Given the description of an element on the screen output the (x, y) to click on. 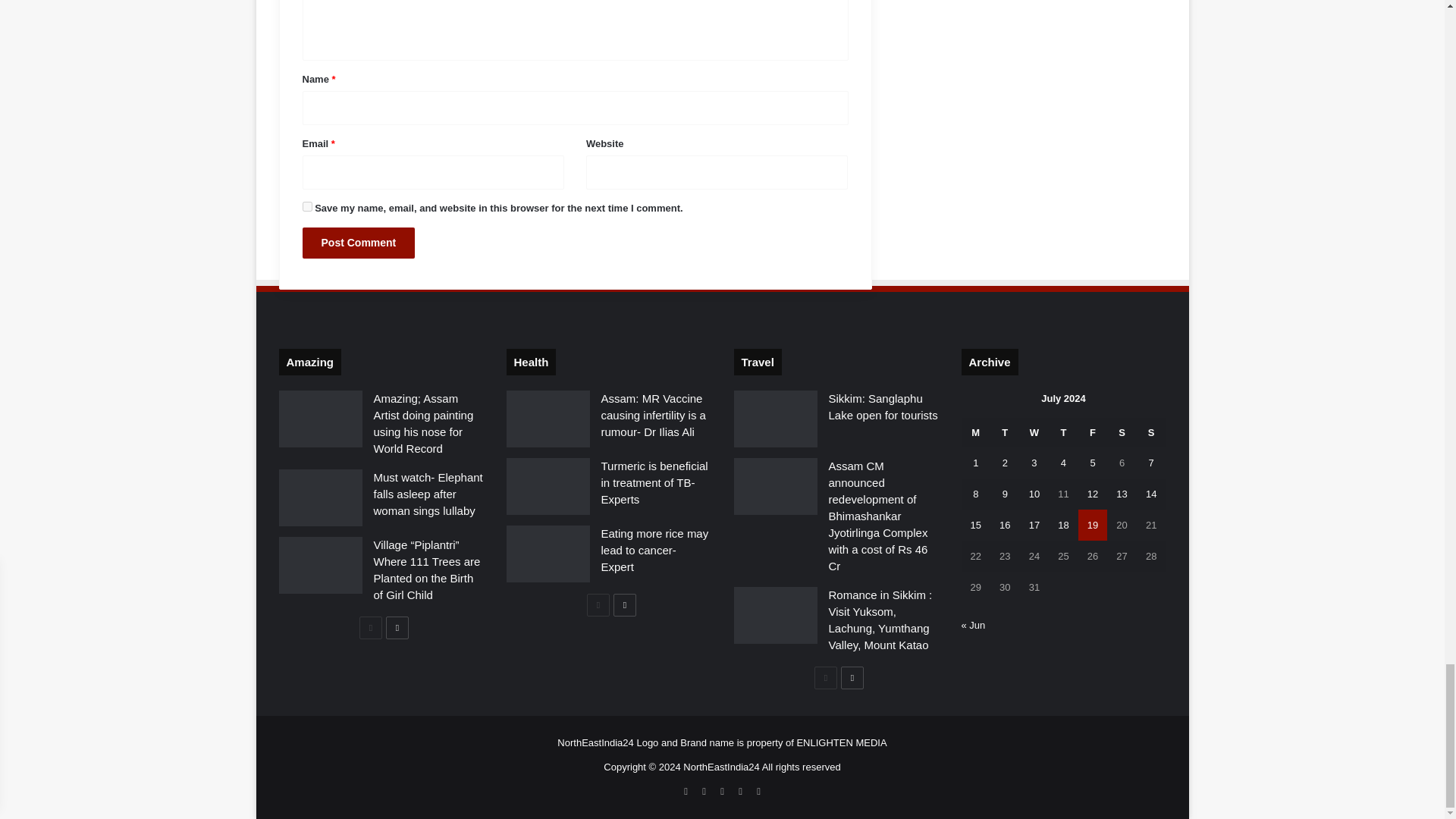
Post Comment (357, 242)
yes (306, 206)
